Given the description of an element on the screen output the (x, y) to click on. 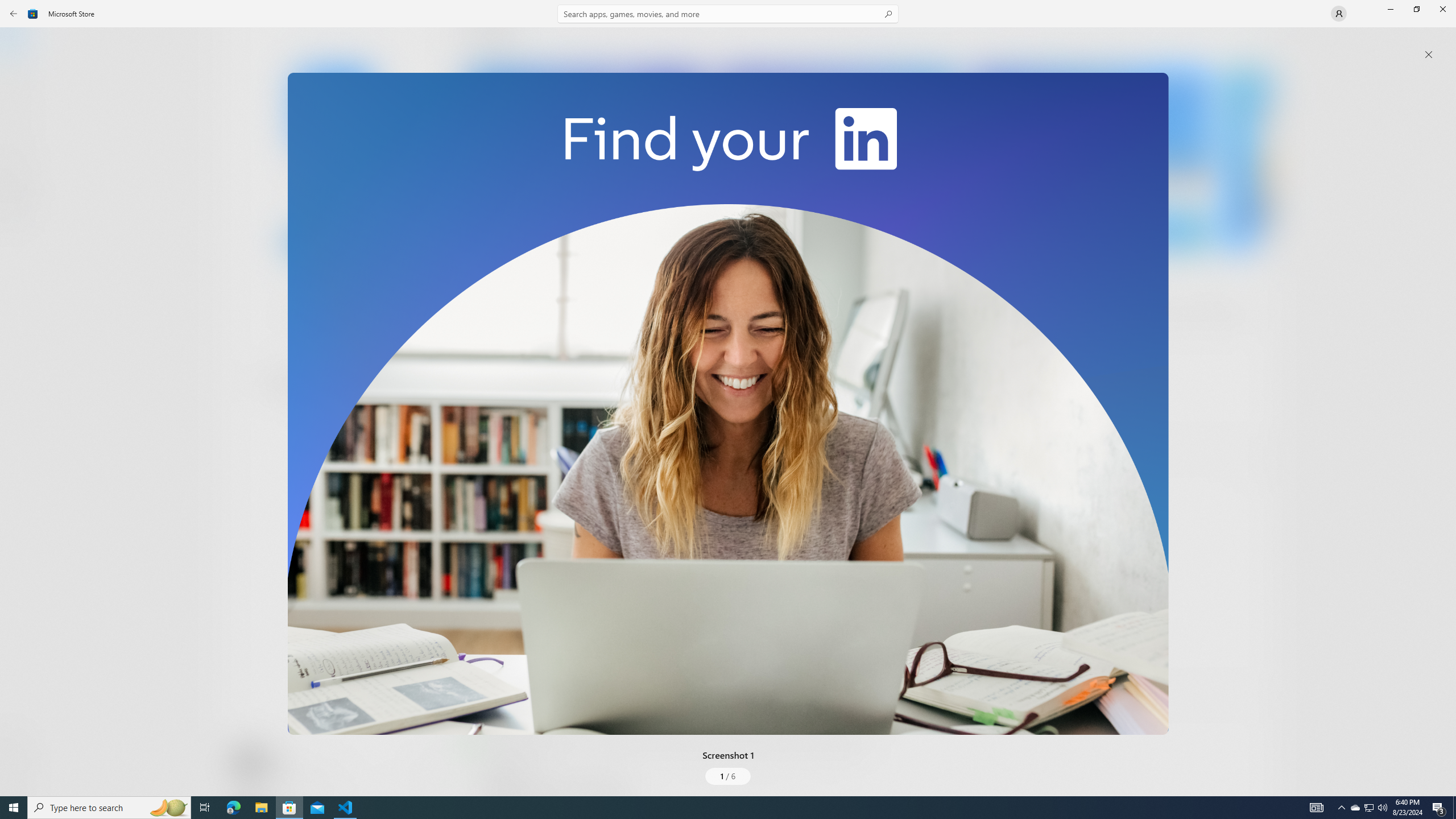
Screenshot 4 (1247, 158)
Back (13, 13)
Minimize Microsoft Store (1390, 9)
3.9 stars. Click to skip to ratings and reviews (307, 315)
See all (1253, 41)
Screenshot 3 (1089, 158)
Social (329, 423)
Screenshot 2 (836, 158)
Show more (485, 426)
AI Hub (20, 221)
Show all ratings and reviews (1253, 465)
Library (20, 773)
Close Microsoft Store (1442, 9)
Get (334, 241)
